Given the description of an element on the screen output the (x, y) to click on. 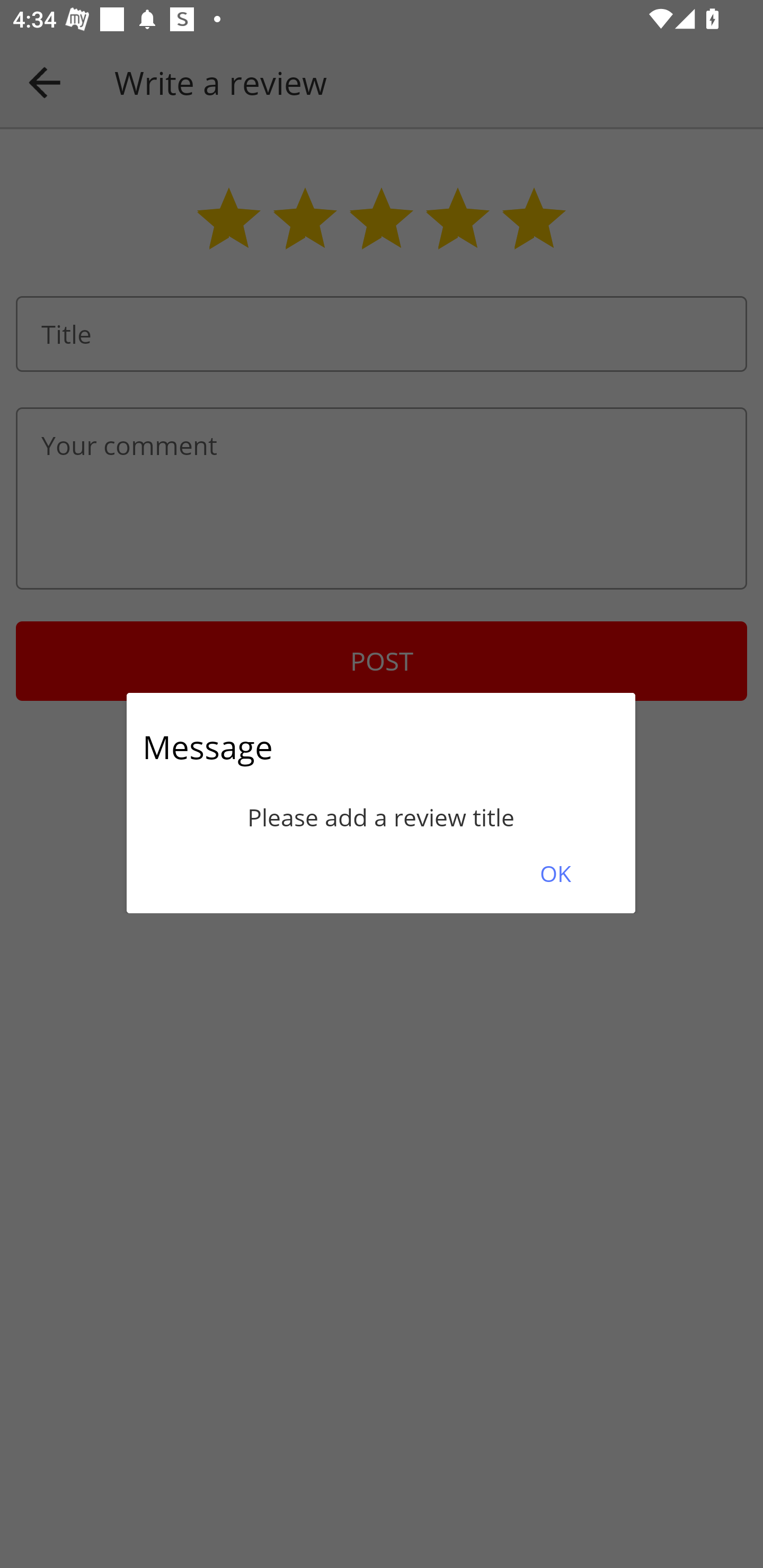
OK (555, 873)
